Given the description of an element on the screen output the (x, y) to click on. 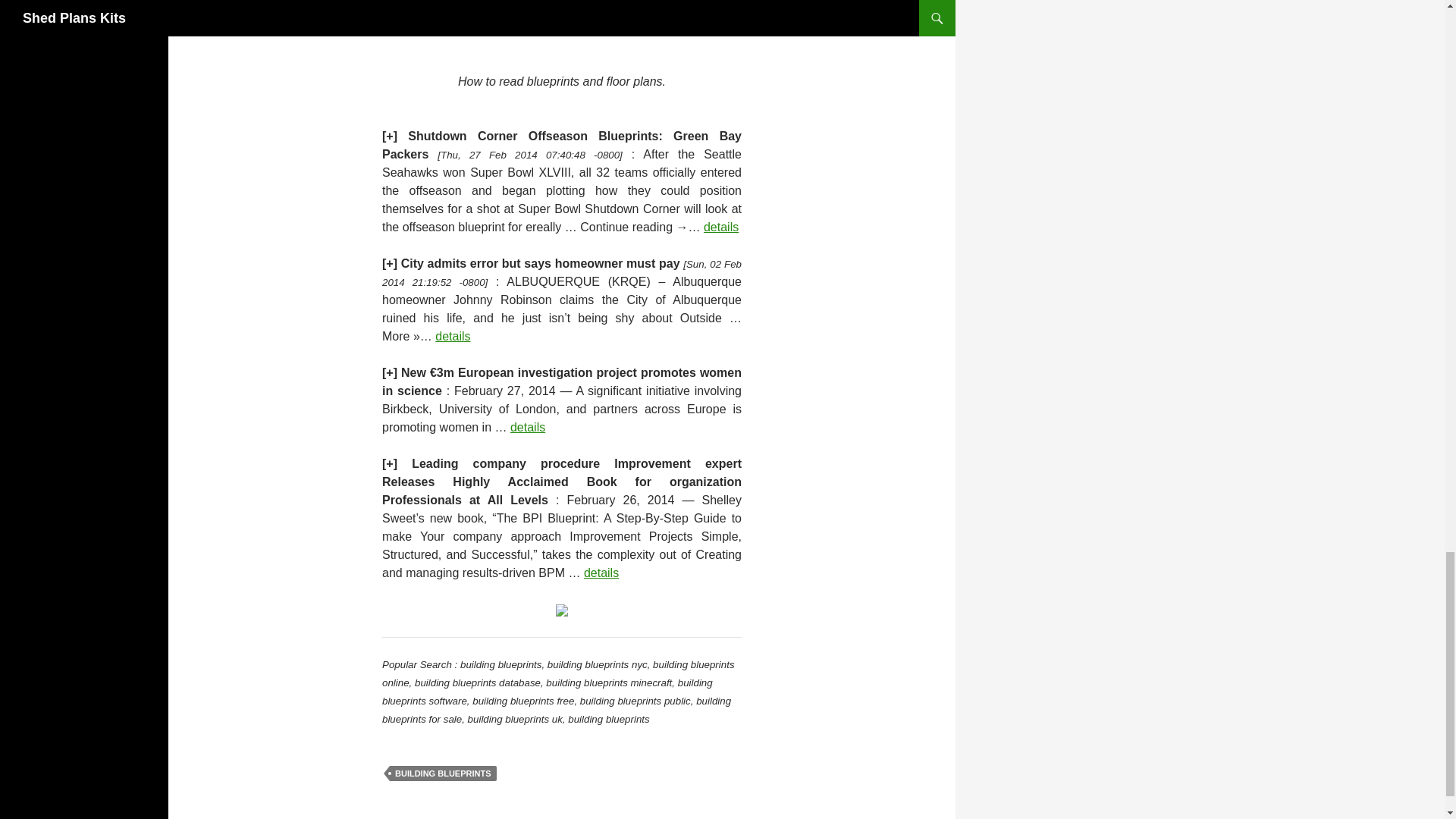
building blueprints (561, 608)
BUILDING BLUEPRINTS (443, 773)
details (527, 427)
details (452, 336)
details (720, 226)
details (600, 572)
